Given the description of an element on the screen output the (x, y) to click on. 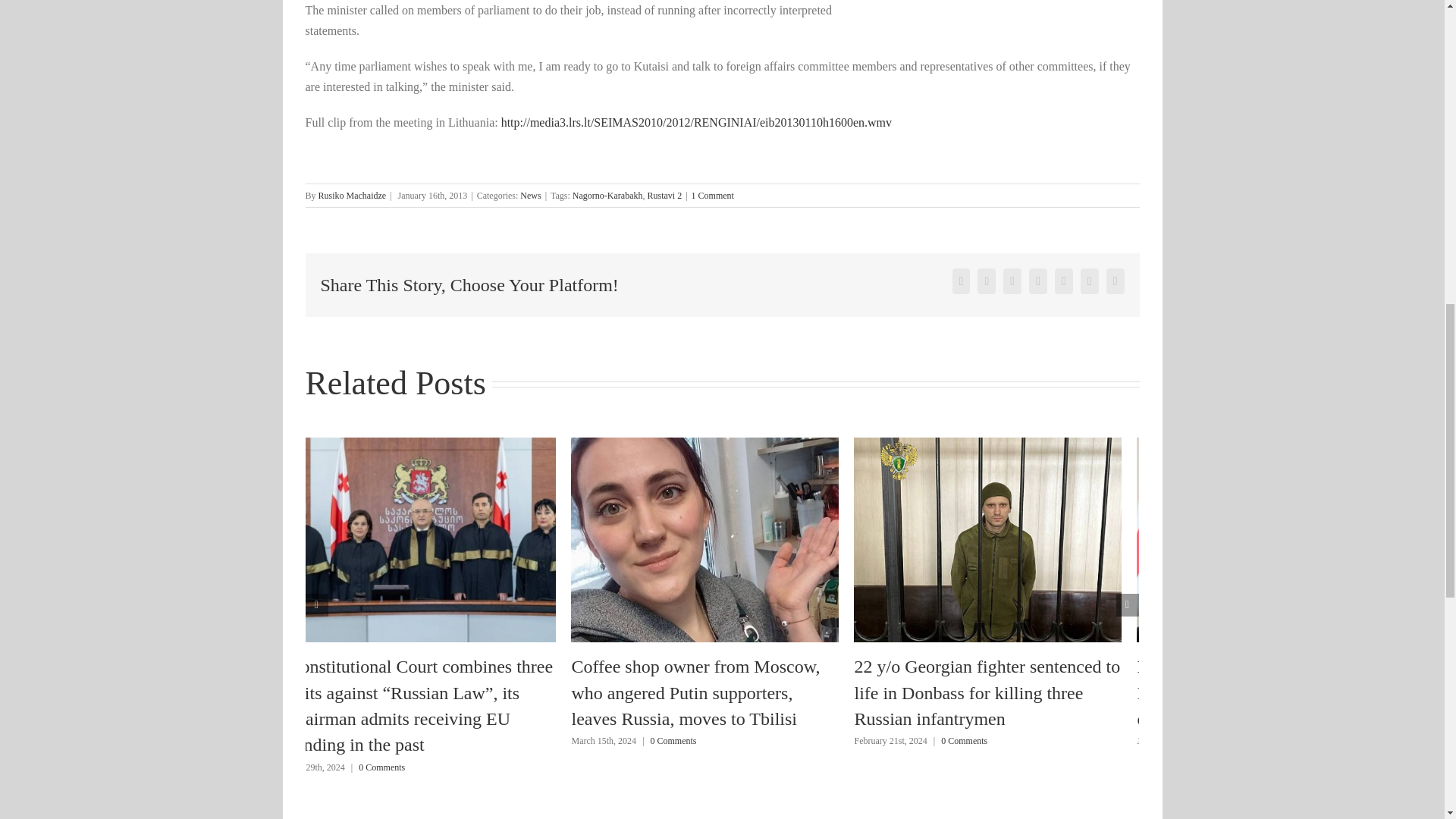
Maia Panjikidze - Karabakh comment (695, 122)
Posts by Rusiko Machaidze (352, 195)
